Given the description of an element on the screen output the (x, y) to click on. 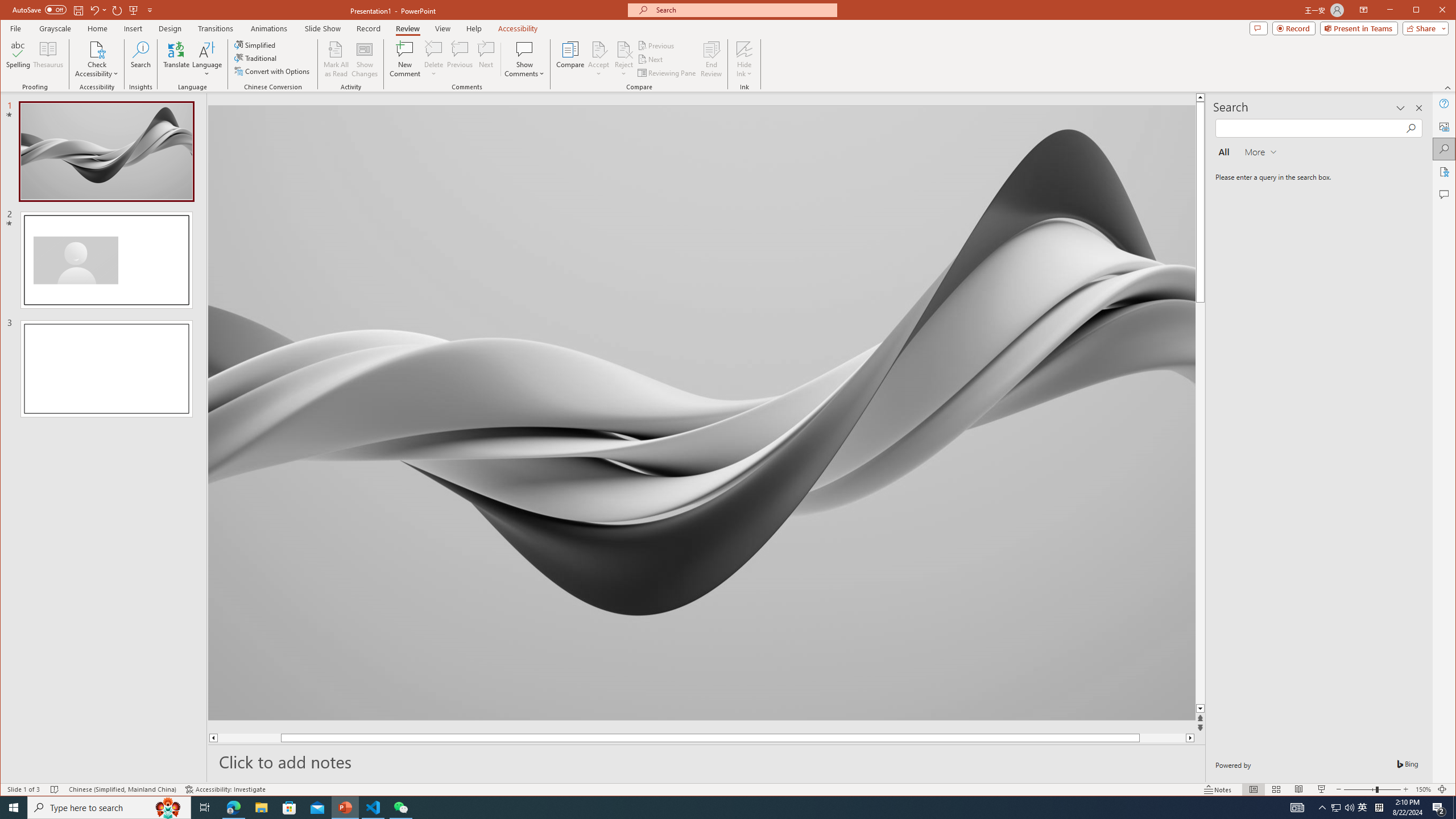
Convert with Options... (272, 70)
Accept Change (598, 48)
